Given the description of an element on the screen output the (x, y) to click on. 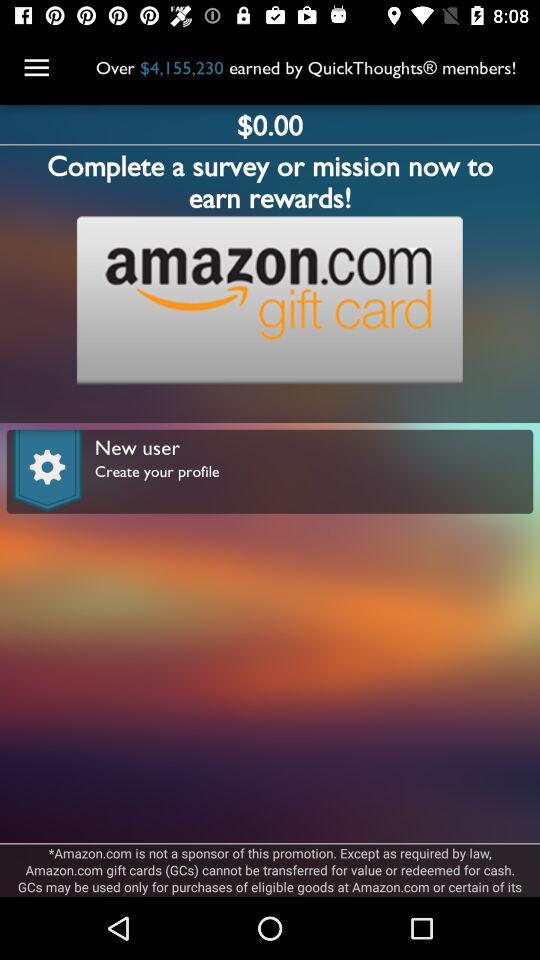
open link (269, 300)
